Given the description of an element on the screen output the (x, y) to click on. 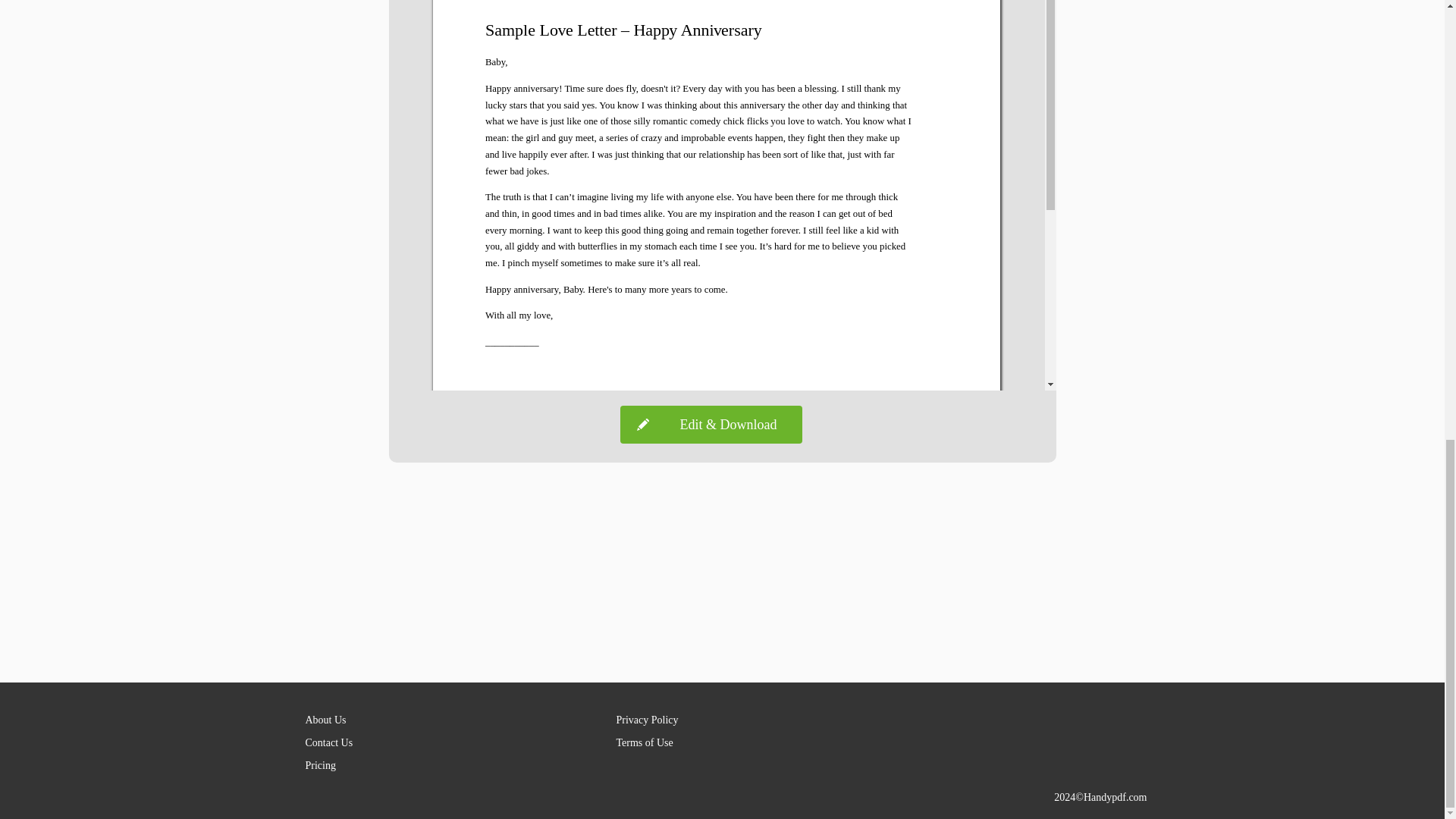
About Us (325, 719)
Contact Us (328, 742)
Handypdf.com (1115, 797)
Terms of Use (643, 742)
Pricing (319, 765)
Privacy Policy (646, 719)
